Given the description of an element on the screen output the (x, y) to click on. 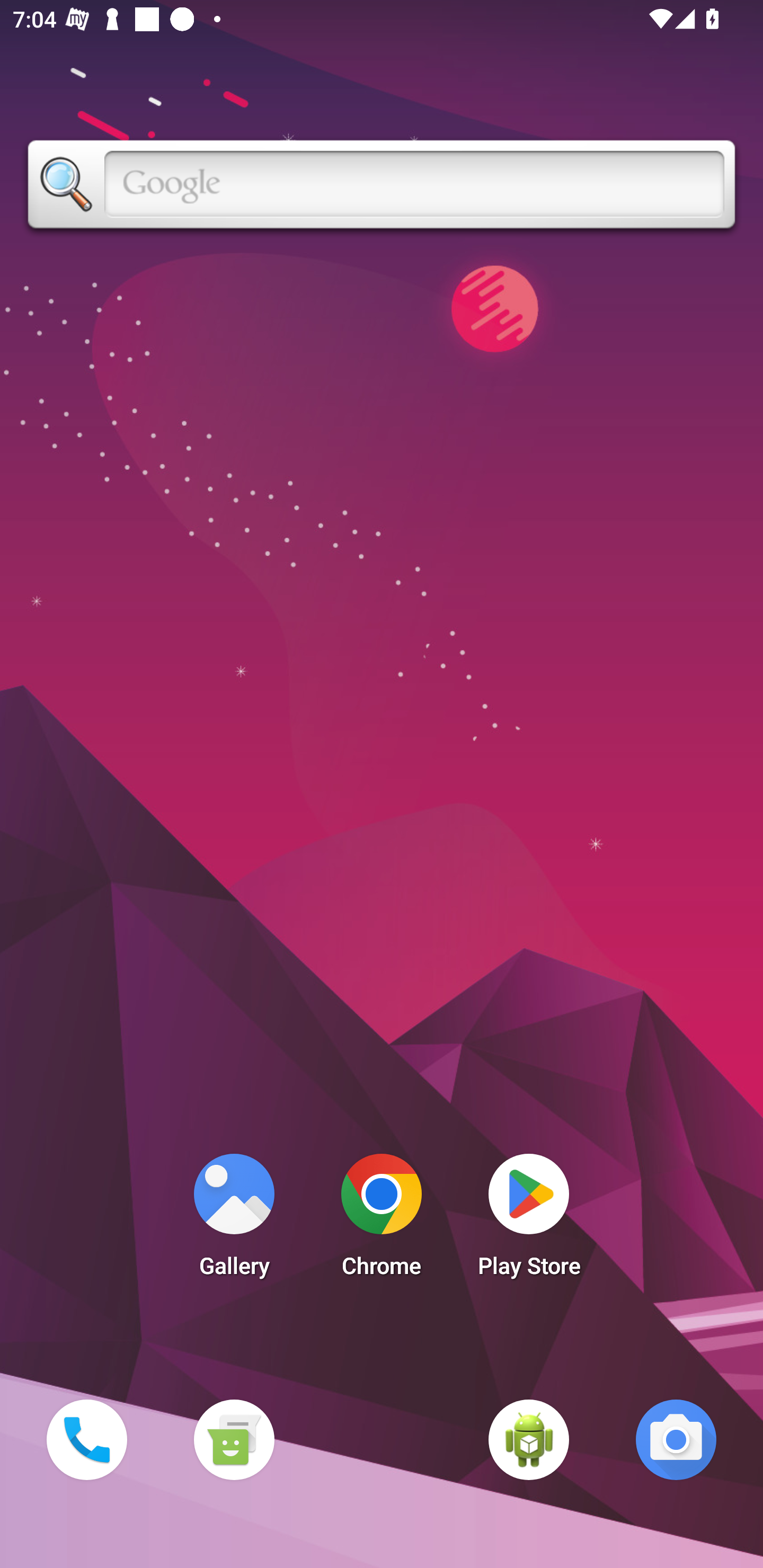
Gallery (233, 1220)
Chrome (381, 1220)
Play Store (528, 1220)
Phone (86, 1439)
Messaging (233, 1439)
WebView Browser Tester (528, 1439)
Camera (676, 1439)
